Given the description of an element on the screen output the (x, y) to click on. 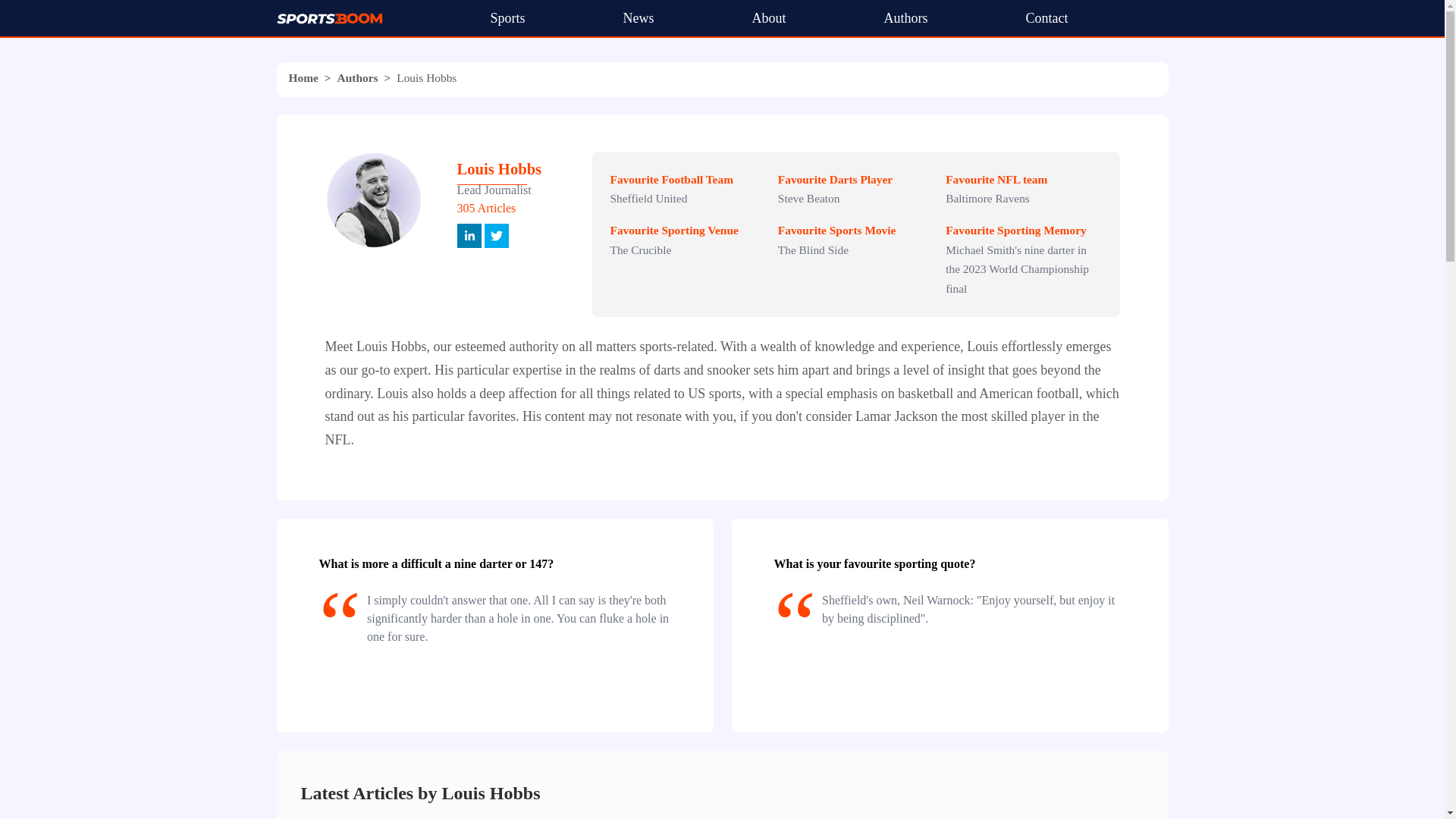
About (768, 18)
Home (302, 77)
Authors (357, 77)
Authors (905, 18)
News (638, 18)
Sports (507, 18)
Contact (1046, 18)
